Given the description of an element on the screen output the (x, y) to click on. 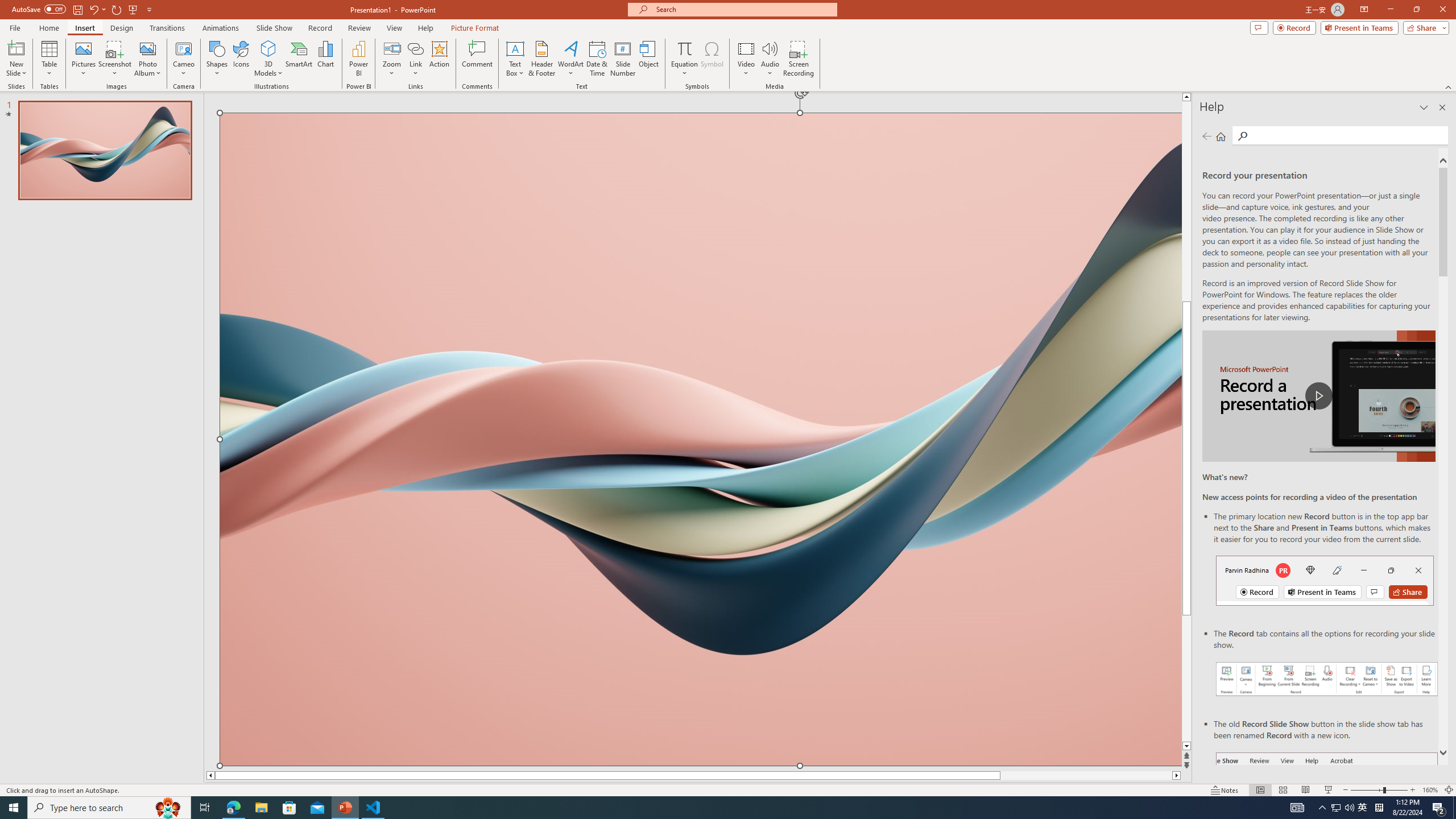
Picture Format (475, 28)
Comment (476, 58)
Zoom 160% (1430, 790)
Record your presentations screenshot one (1326, 678)
Record button in top bar (1324, 580)
Symbol... (711, 58)
